Given the description of an element on the screen output the (x, y) to click on. 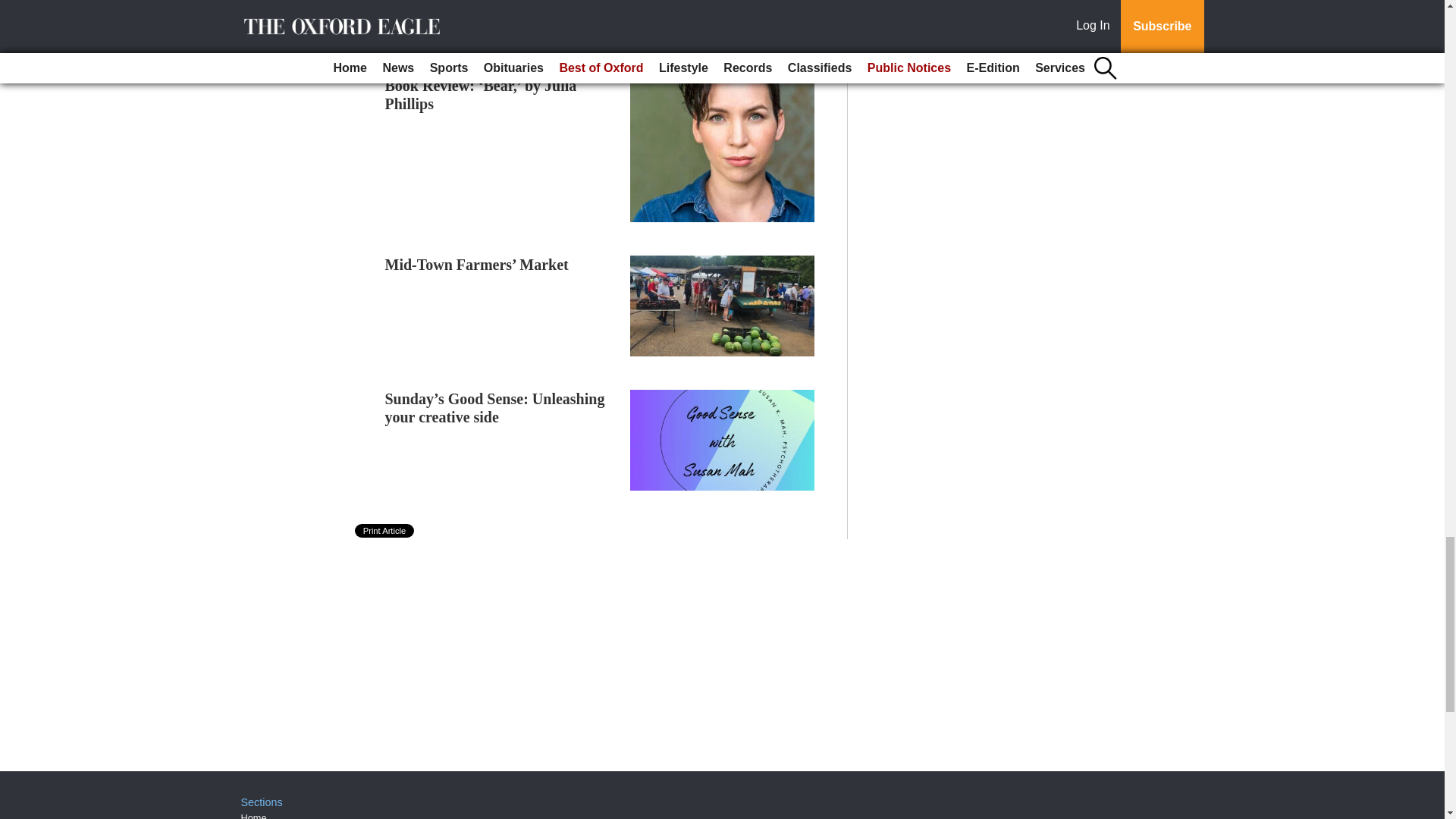
Print Article (384, 530)
